Given the description of an element on the screen output the (x, y) to click on. 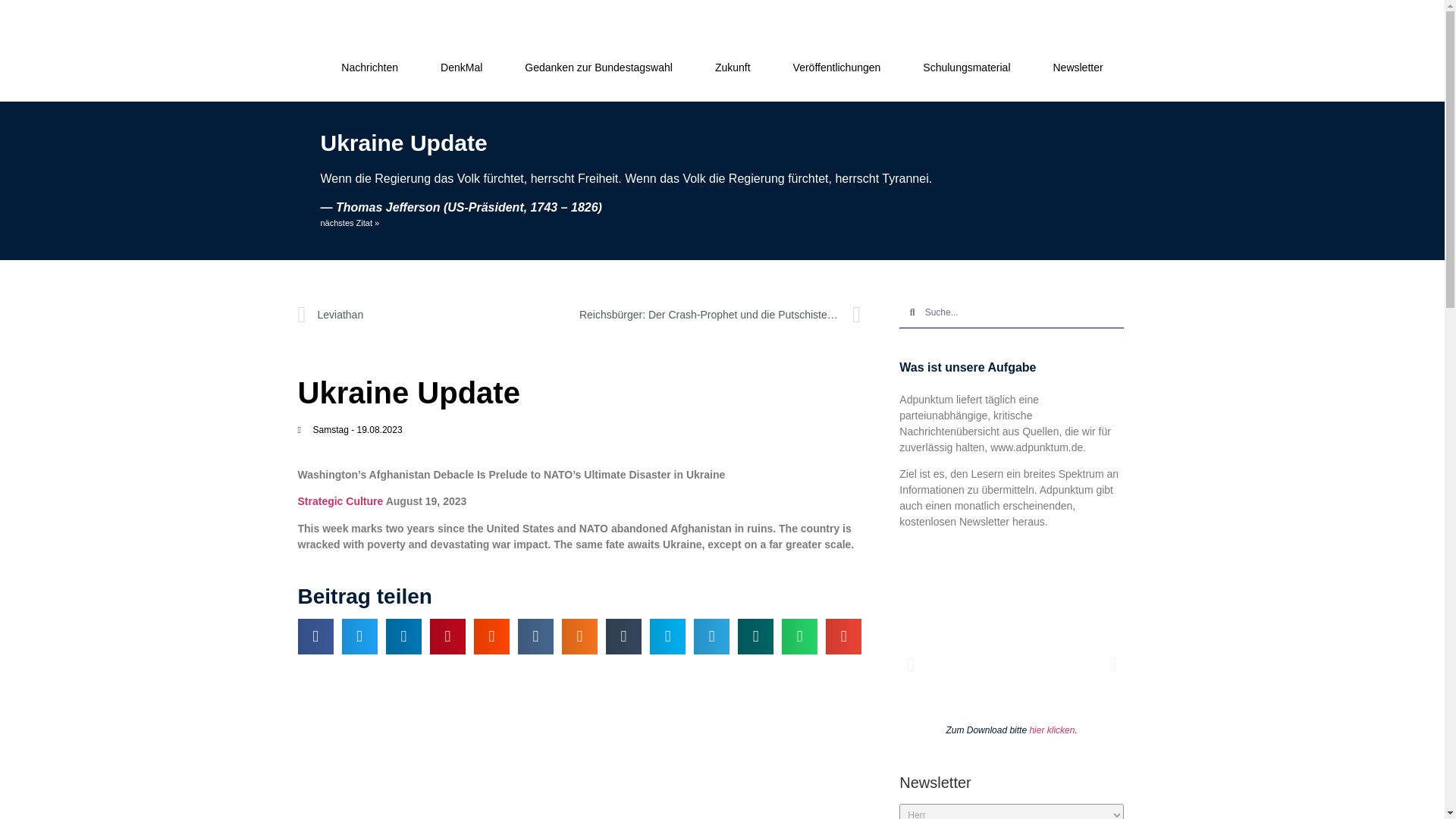
Gedanken zur Bundestagswahl (598, 67)
Zukunft (732, 67)
DenkMal (461, 67)
Schulungsmaterial (966, 67)
Nachrichten (369, 67)
Newsletter (1077, 67)
